Given the description of an element on the screen output the (x, y) to click on. 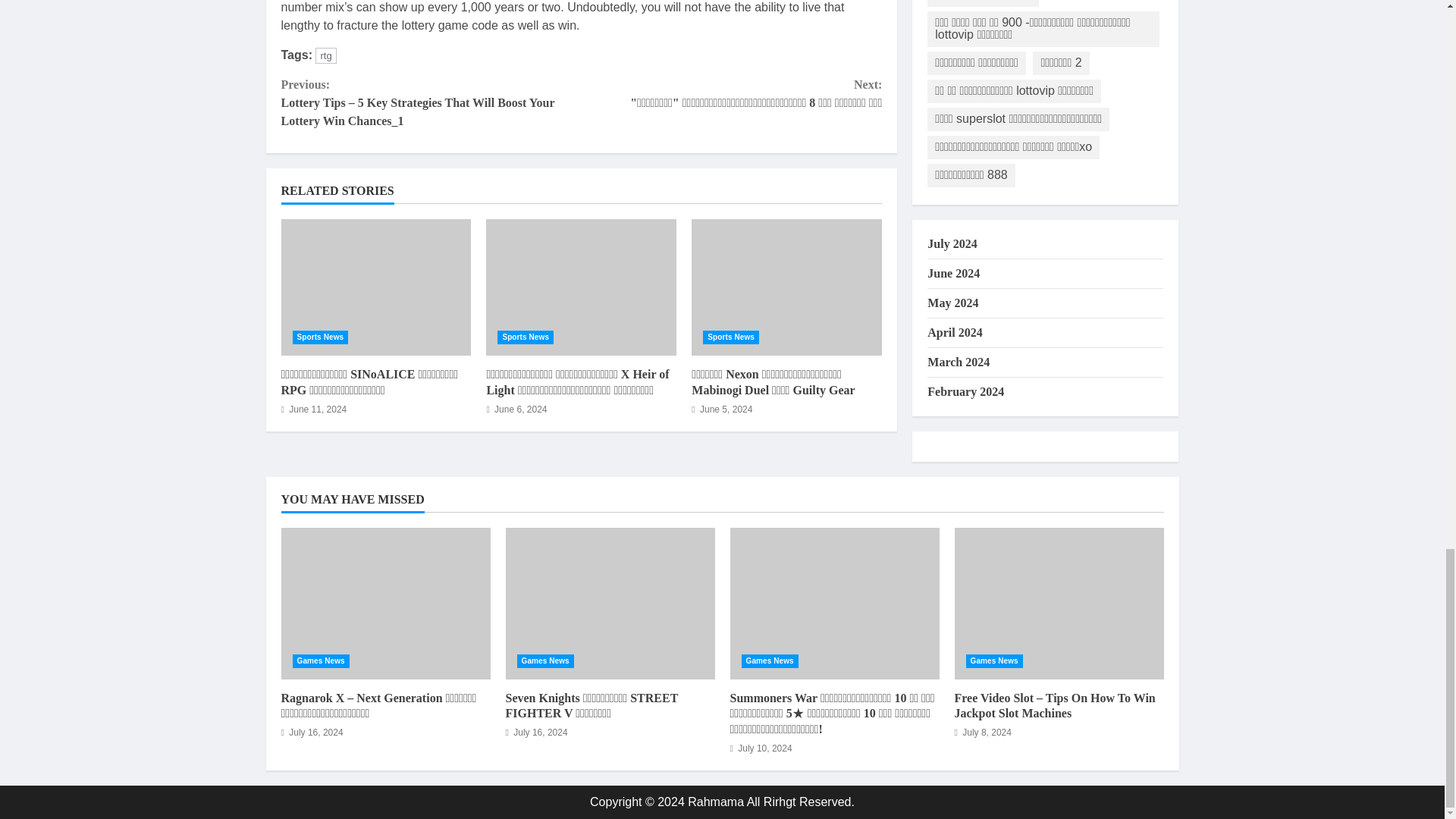
Sports News (320, 336)
rtg (325, 55)
Sports News (730, 336)
Sports News (525, 336)
